Given the description of an element on the screen output the (x, y) to click on. 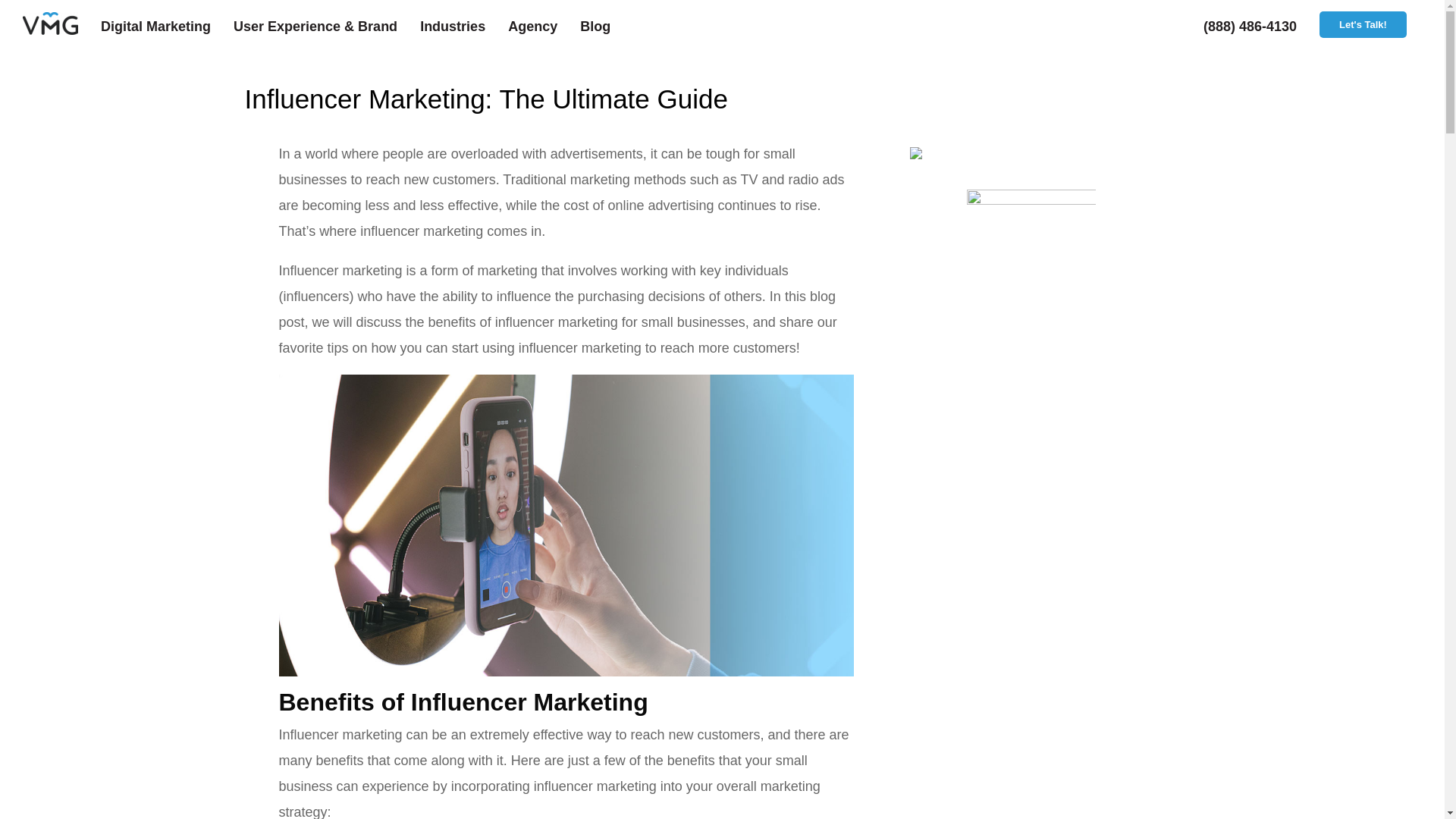
Blog (606, 26)
Digital Marketing (166, 26)
Professional Digital Marketing Agency (61, 26)
Agency (543, 26)
Agency (543, 26)
Industries (464, 26)
Let's Talk! (1362, 24)
Industries (464, 26)
Digital Marketing (166, 26)
